Given the description of an element on the screen output the (x, y) to click on. 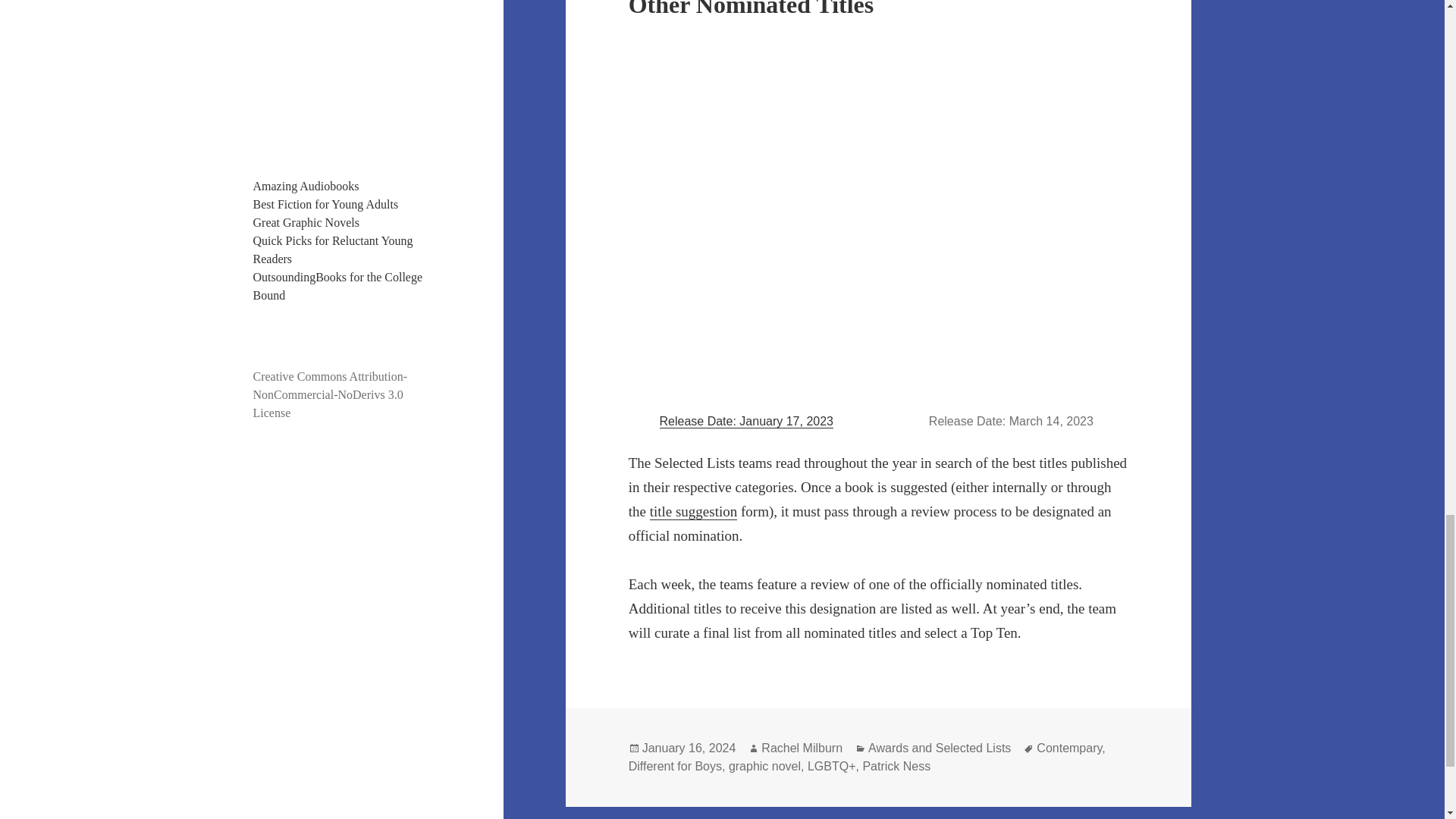
Quick Picks for Reluctant Young Readers (333, 249)
Amazing Audiobooks (306, 185)
Best Fiction for Young Adults (325, 204)
Rachel Milburn (802, 748)
OutsoundingBooks for the College Bound (338, 286)
January 16, 2024 (689, 748)
Great Graphic Novels (306, 222)
Release Date: January 17, 2023 (745, 421)
title suggestion (693, 511)
